Given the description of an element on the screen output the (x, y) to click on. 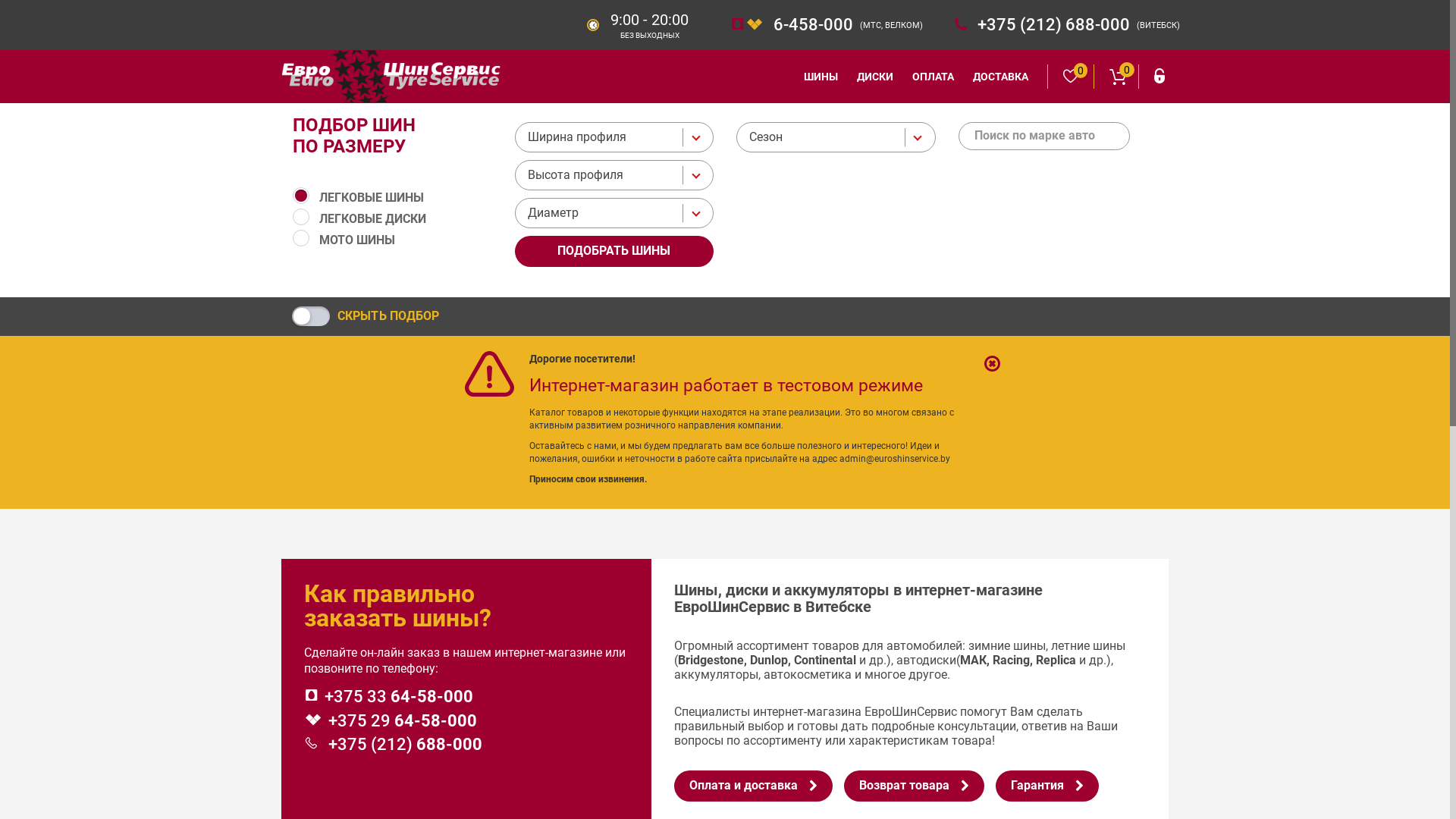
 +375 (212) 688-000 Element type: text (1051, 24)
 6-458-000 Element type: text (811, 24)
0 Element type: text (1070, 76)
0 Element type: text (1116, 77)
+375 29 
64-58-000 Element type: text (402, 720)
+375 33 
64-58-000 Element type: text (398, 696)
 +375 (212) 
688-000 Element type: text (403, 744)
